Given the description of an element on the screen output the (x, y) to click on. 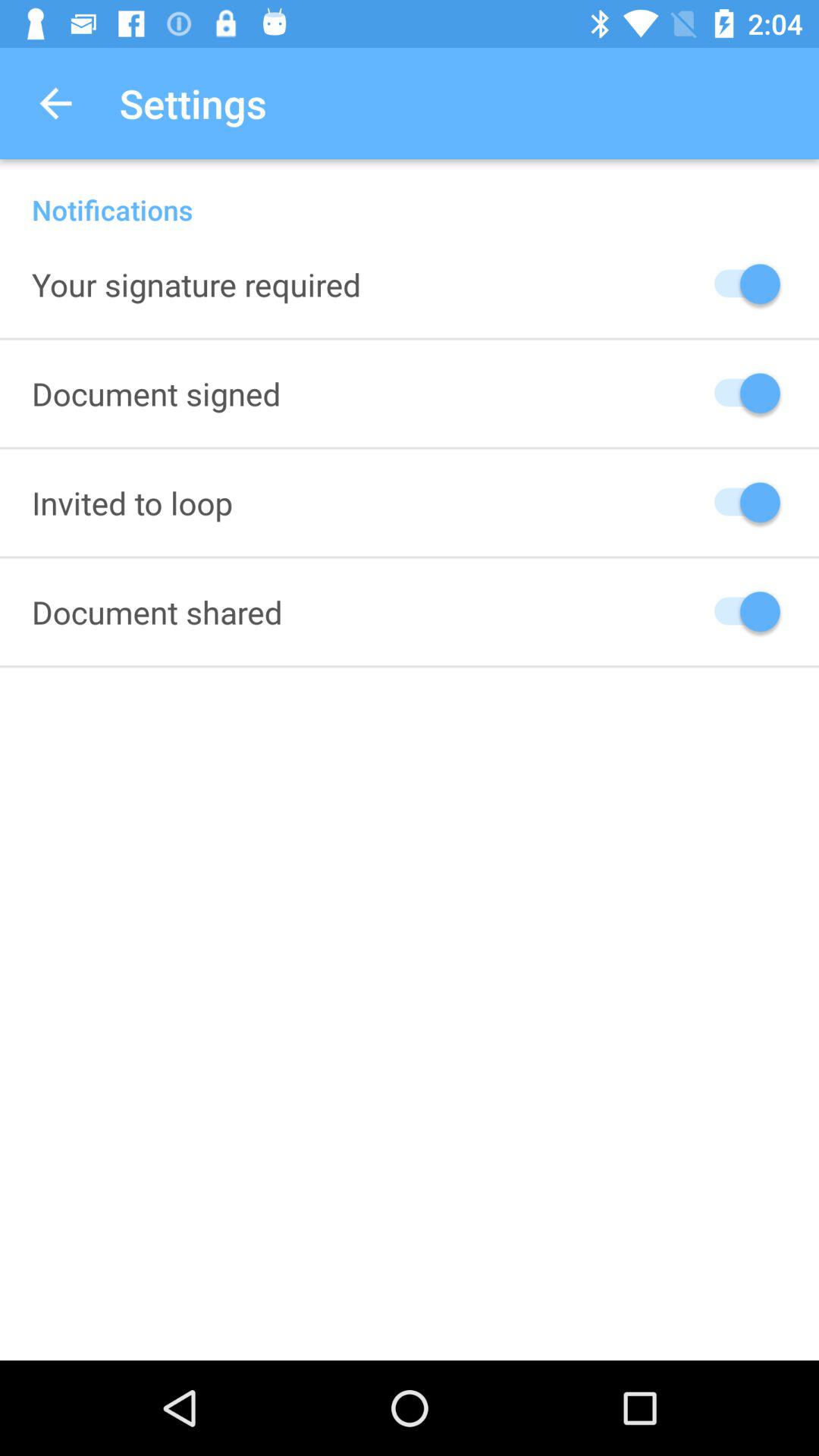
select icon below invited to loop item (156, 611)
